Given the description of an element on the screen output the (x, y) to click on. 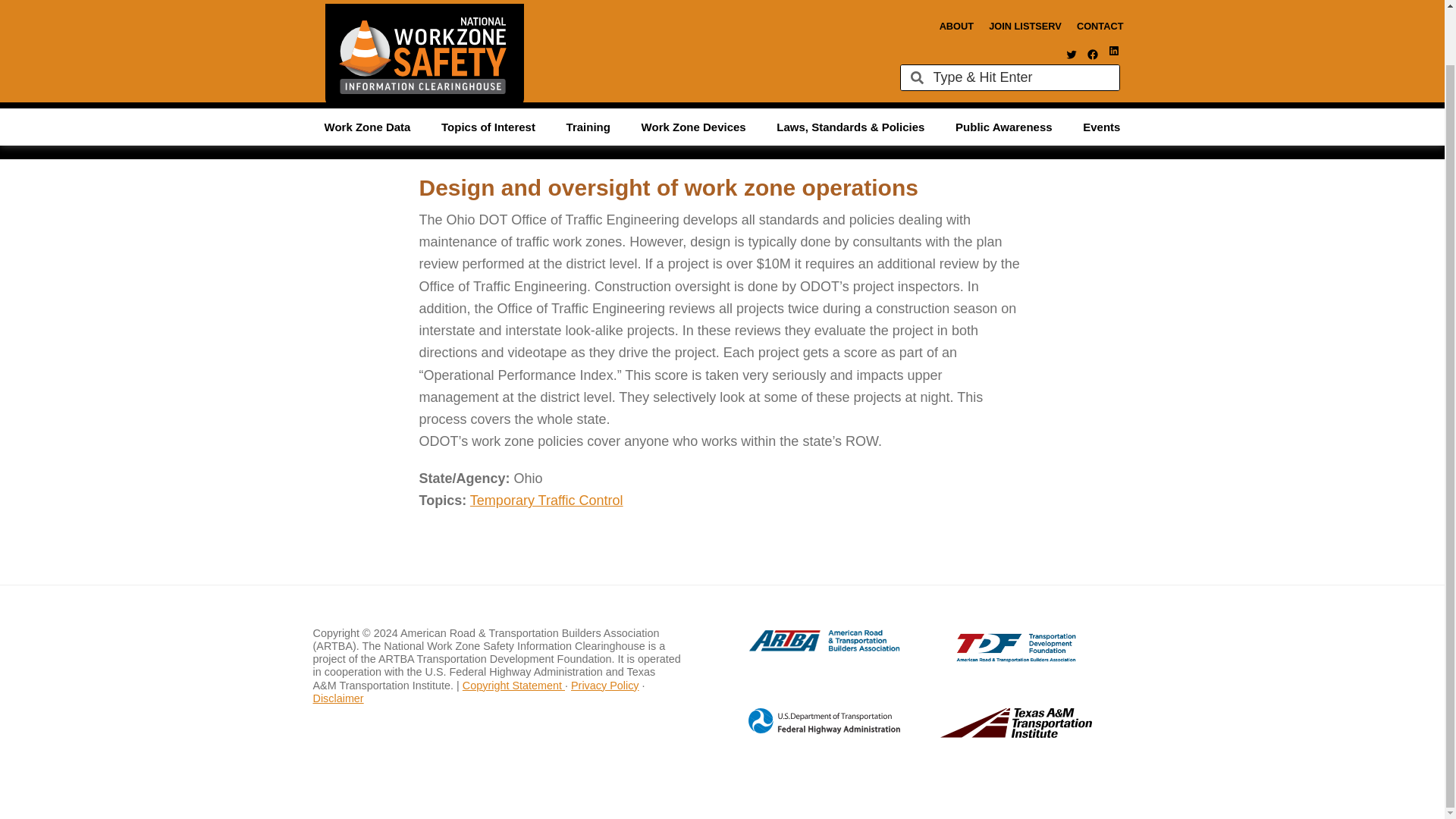
Events (1101, 67)
Public Awareness (1003, 67)
Search (1021, 18)
Training (587, 67)
ARTBA website (808, 648)
Topics of Interest (488, 67)
FHWA website (808, 730)
Work Zone Devices (693, 67)
Temporary Traffic Control (546, 500)
ARTBA Transportation Development Foundation website (985, 657)
Work Zone Data (367, 67)
